Given the description of an element on the screen output the (x, y) to click on. 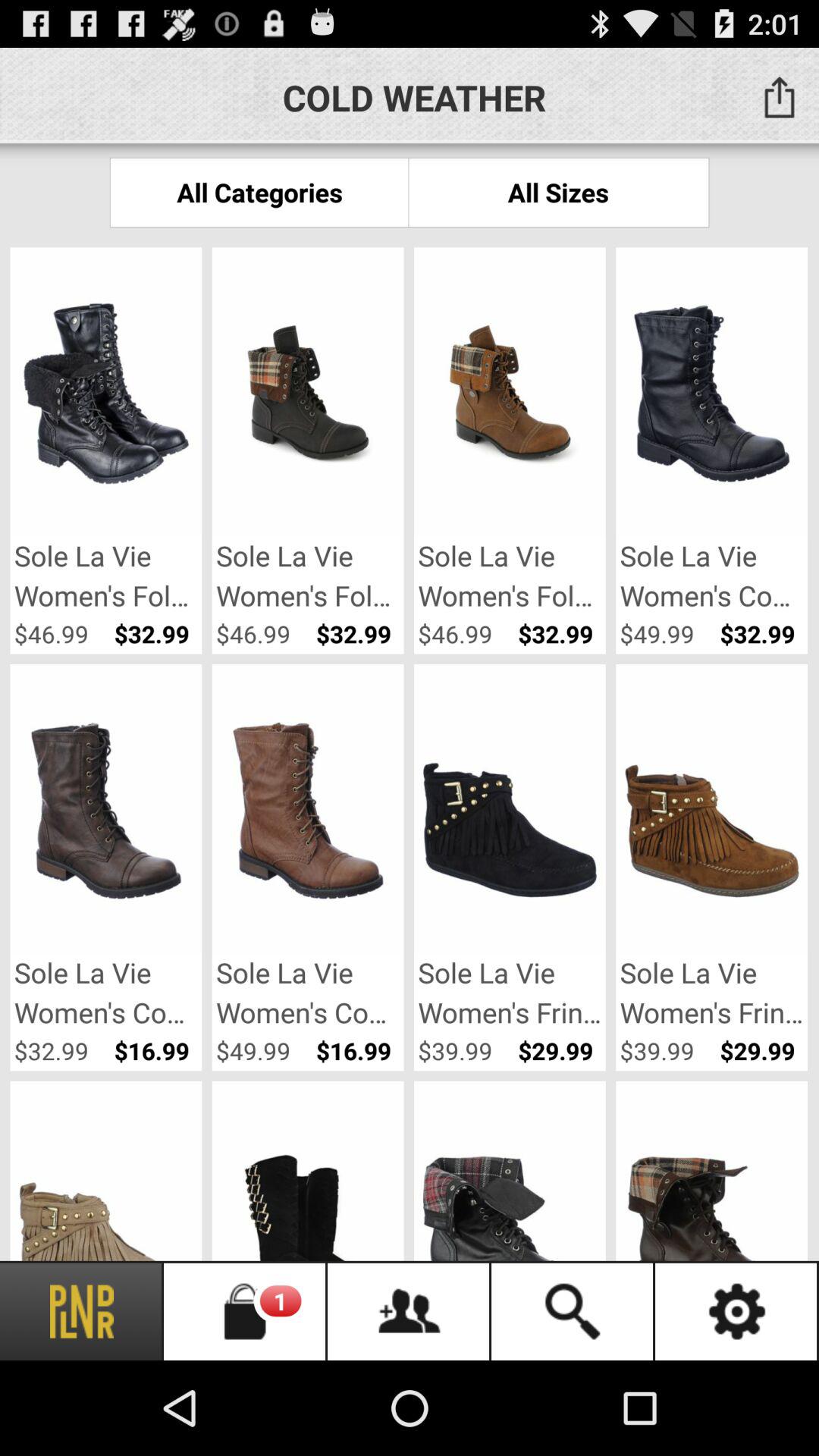
launch the icon next to the all categories icon (558, 192)
